Given the description of an element on the screen output the (x, y) to click on. 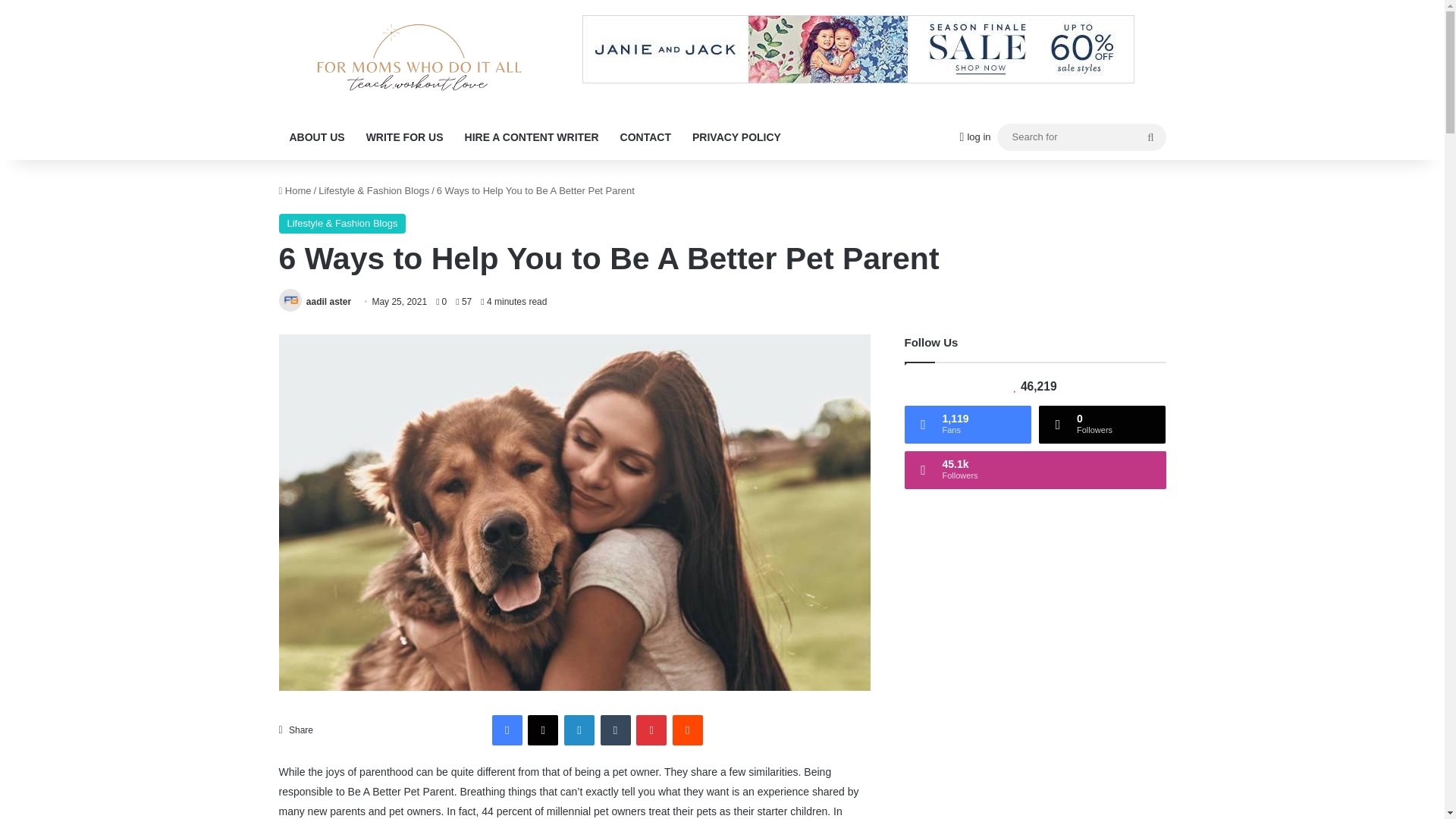
Search for (1080, 136)
Pinterest (651, 729)
Teach.Workout.Love (419, 56)
ABOUT US (317, 136)
Tumblr (614, 729)
X (542, 729)
Facebook (507, 729)
CONTACT (645, 136)
WRITE FOR US (404, 136)
aadil aster (327, 301)
aadil aster (327, 301)
Reddit (687, 729)
LinkedIn (579, 729)
Home (295, 190)
PRIVACY POLICY (736, 136)
